Given the description of an element on the screen output the (x, y) to click on. 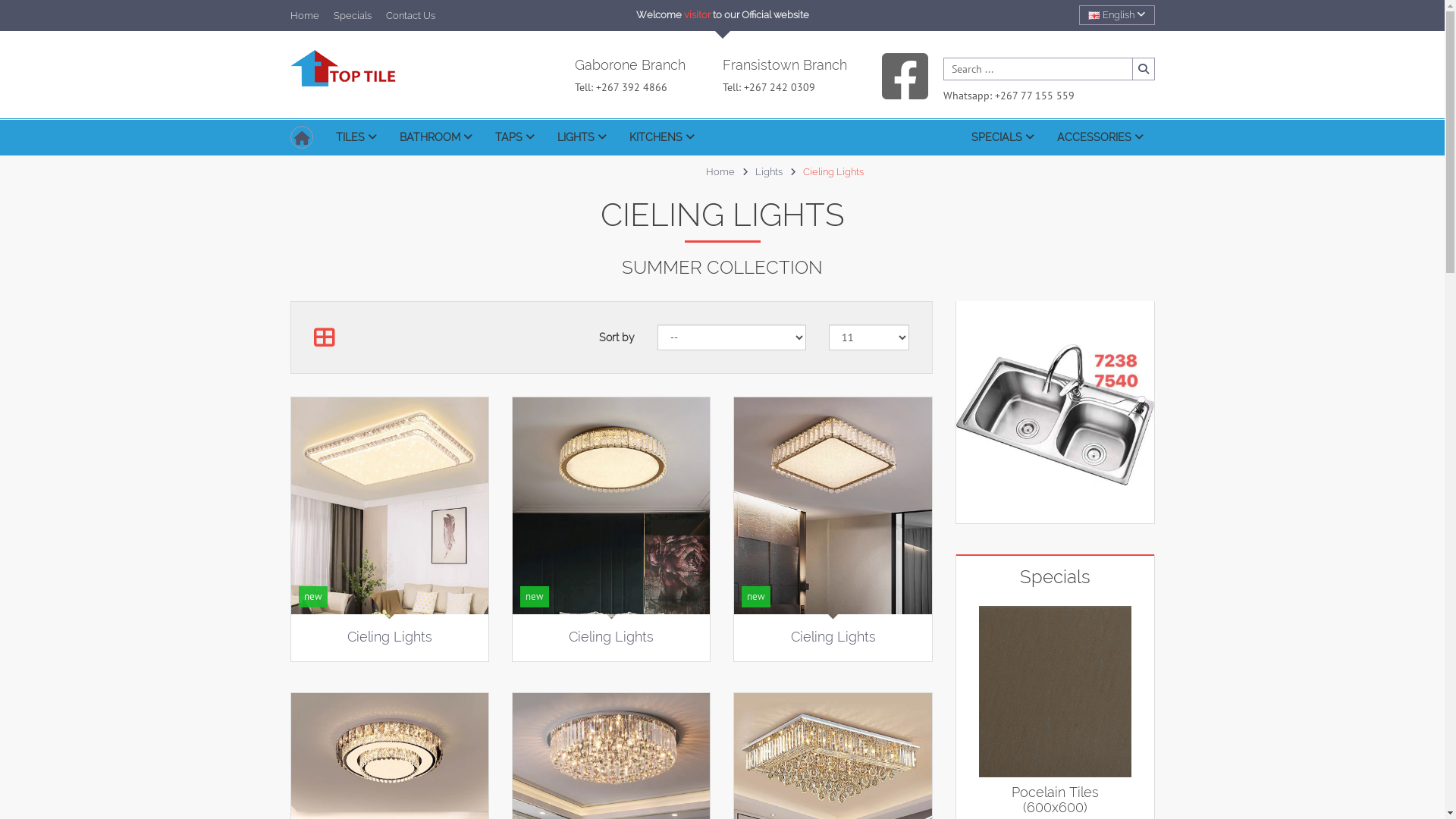
Lights Element type: text (768, 171)
Home Element type: text (303, 15)
English Element type: text (1116, 15)
Cieling Lights Element type: text (611, 636)
English Element type: hover (1094, 15)
Cieling Lights Element type: text (832, 636)
Home Element type: text (719, 171)
TILES Element type: text (356, 136)
ACCESSORIES Element type: text (1099, 136)
KITCHENS Element type: text (661, 136)
visitor Element type: text (698, 14)
SPECIALS Element type: text (1002, 136)
Specials Element type: text (352, 15)
TAPS Element type: text (514, 136)
BATHROOM Element type: text (435, 136)
LIGHTS Element type: text (582, 136)
Cieling Lights Element type: text (389, 636)
Contact Us Element type: text (409, 15)
